Given the description of an element on the screen output the (x, y) to click on. 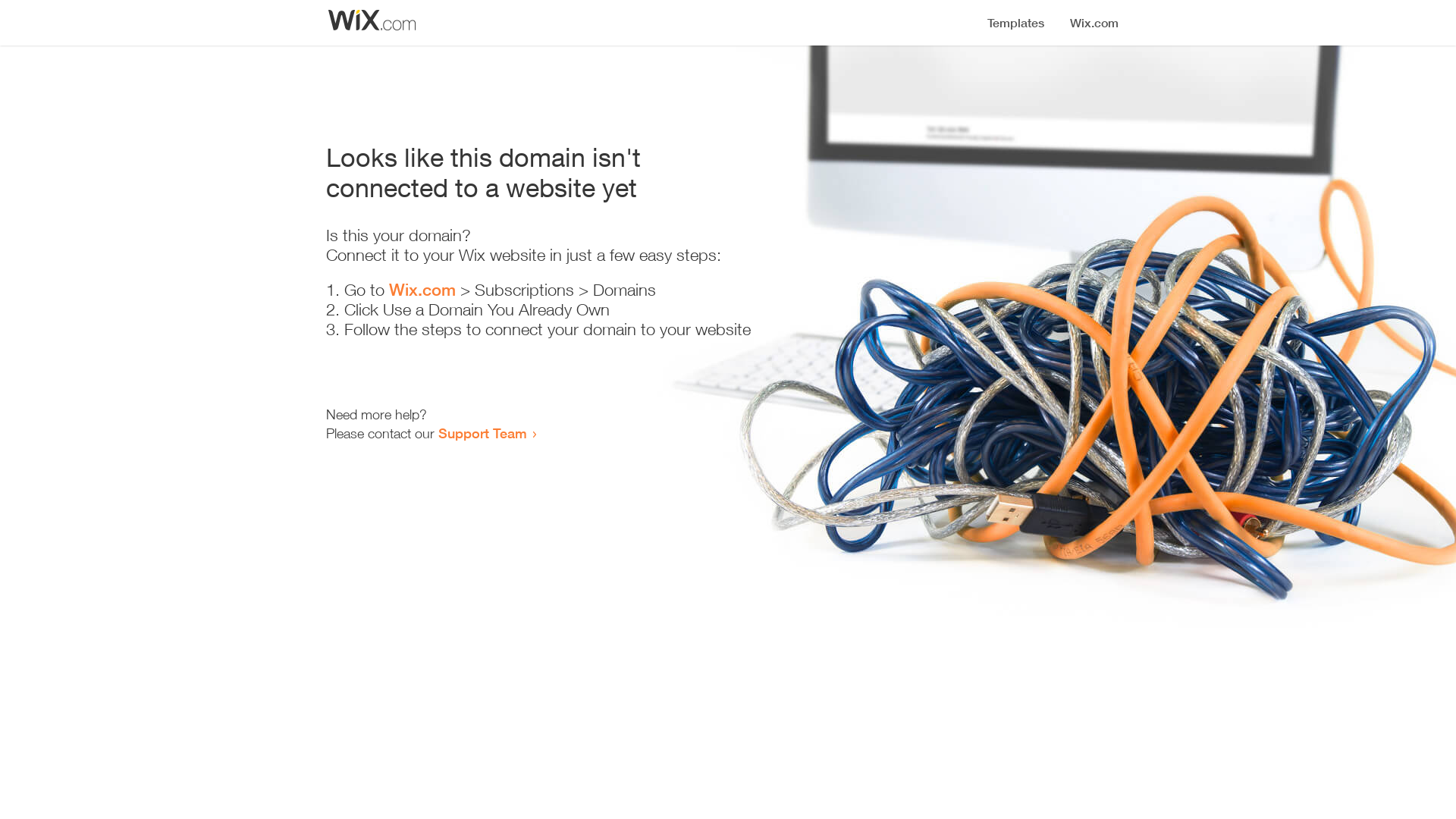
Support Team Element type: text (482, 432)
Wix.com Element type: text (422, 289)
